Given the description of an element on the screen output the (x, y) to click on. 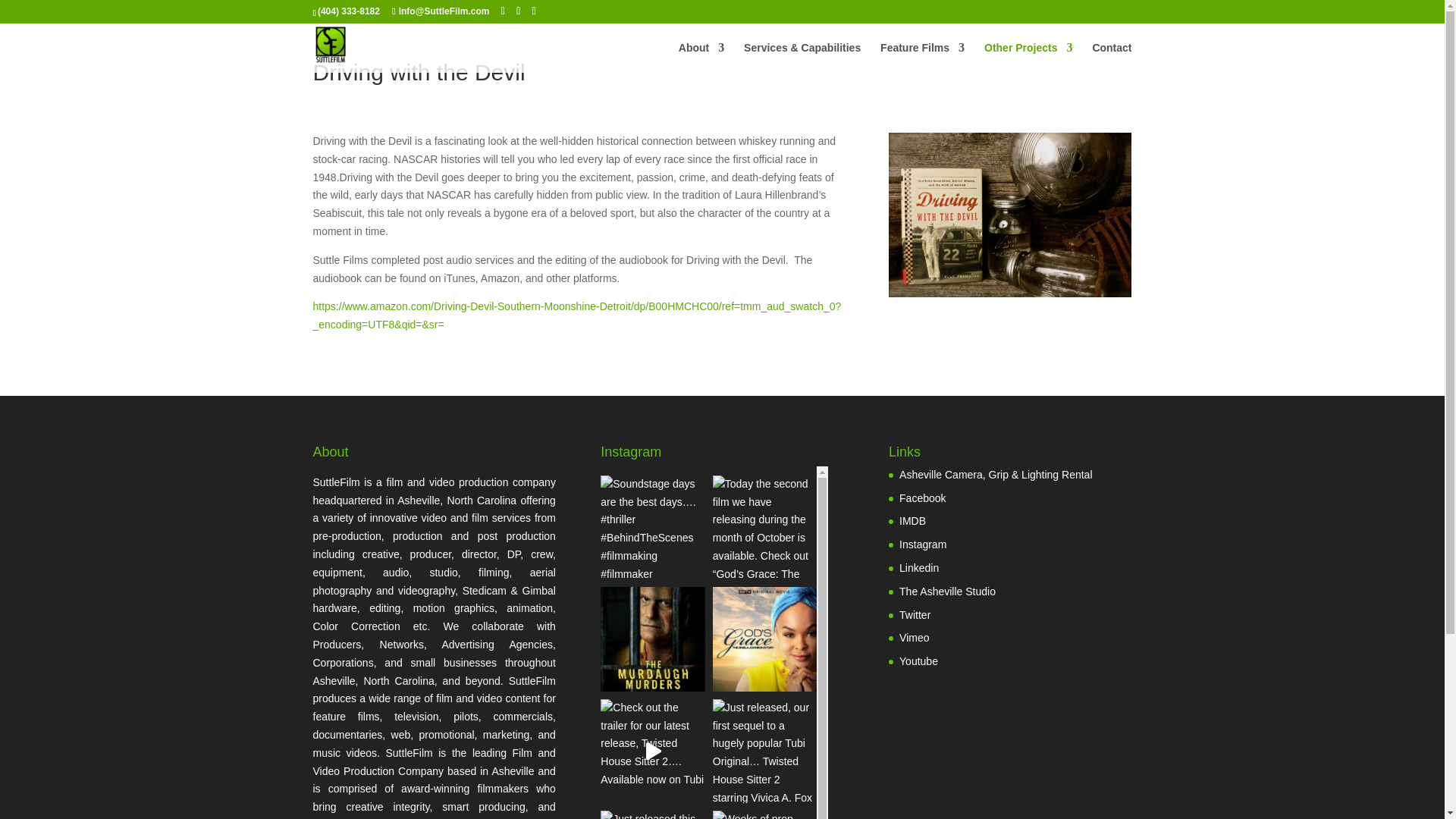
Feature Films (921, 57)
Suttlefilm on Vimeo (913, 637)
Other Projects (1027, 57)
James Suttles Twitter Feed (914, 614)
Contact (1111, 57)
About (700, 57)
Suttlefilm on Linkedin (919, 567)
suttlefilm on Instagram (922, 544)
James Suttles on IMDB (912, 521)
Suttlefilm on Facebook (921, 498)
Suttlefilm on Youtube (918, 661)
